Given the description of an element on the screen output the (x, y) to click on. 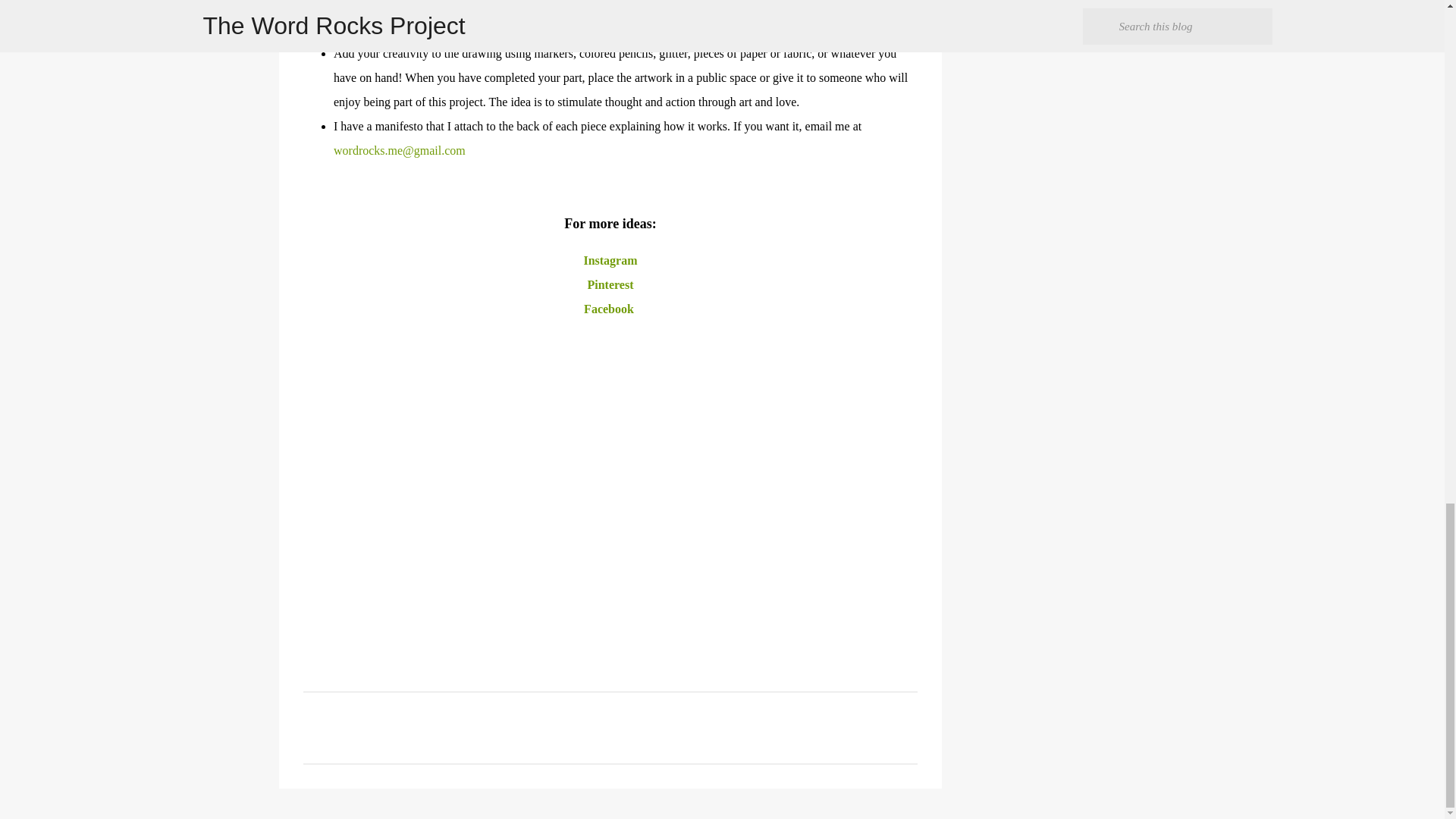
Facebook  (610, 308)
Instagram (610, 259)
Pinterest (609, 284)
